Given the description of an element on the screen output the (x, y) to click on. 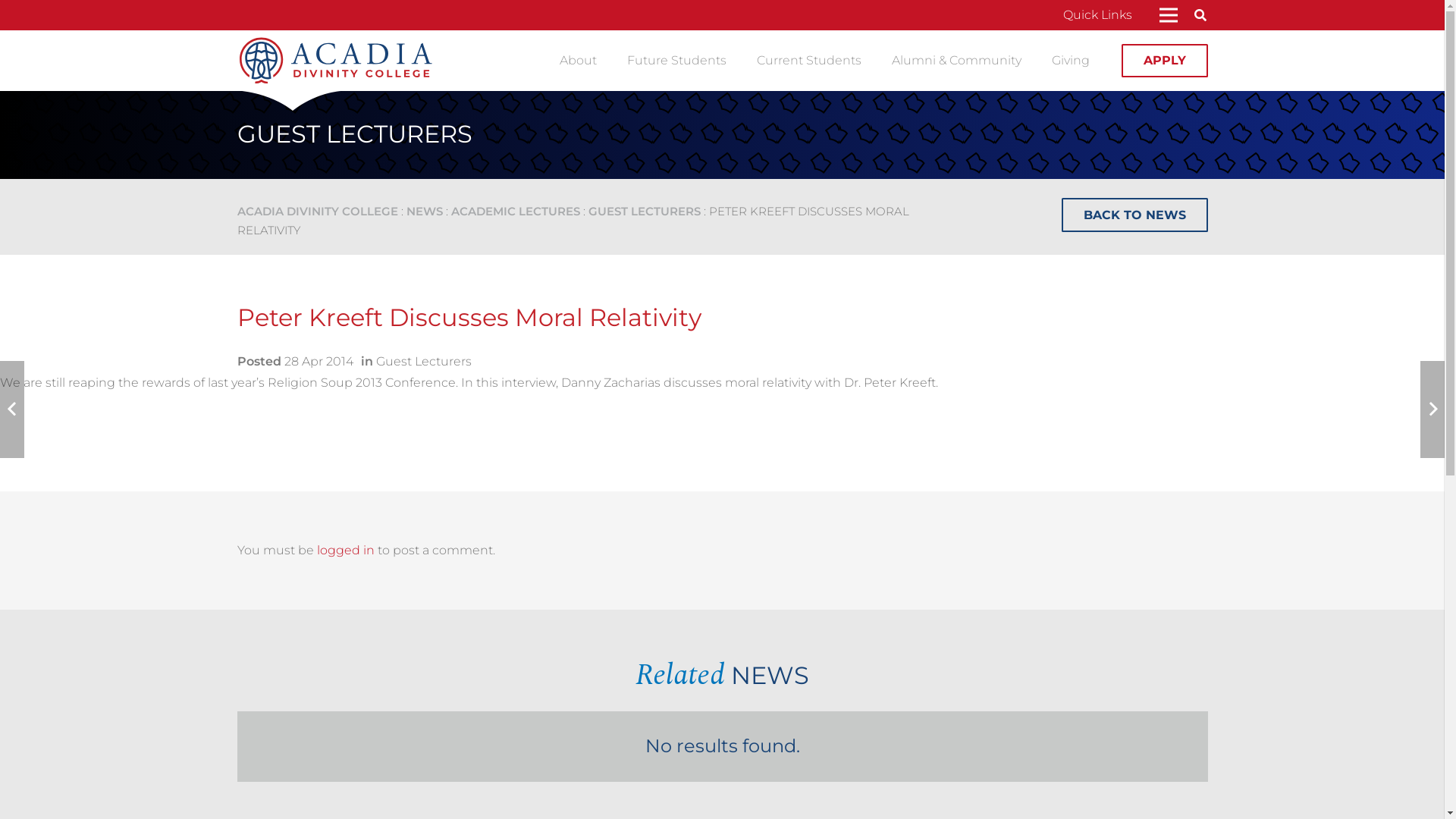
Future Students Element type: text (676, 60)
ACADIA DIVINITY COLLEGE Element type: text (316, 210)
About Element type: text (577, 60)
Current Students Element type: text (808, 60)
ACADEMIC LECTURES Element type: text (514, 210)
Guest Lecturers Element type: text (423, 361)
NEWS Element type: text (424, 210)
BACK TO NEWS Element type: text (1134, 214)
Giving Element type: text (1070, 60)
logged in Element type: text (345, 549)
APPLY Element type: text (1164, 60)
Alumni & Community Element type: text (956, 60)
GUEST LECTURERS Element type: text (644, 210)
